Given the description of an element on the screen output the (x, y) to click on. 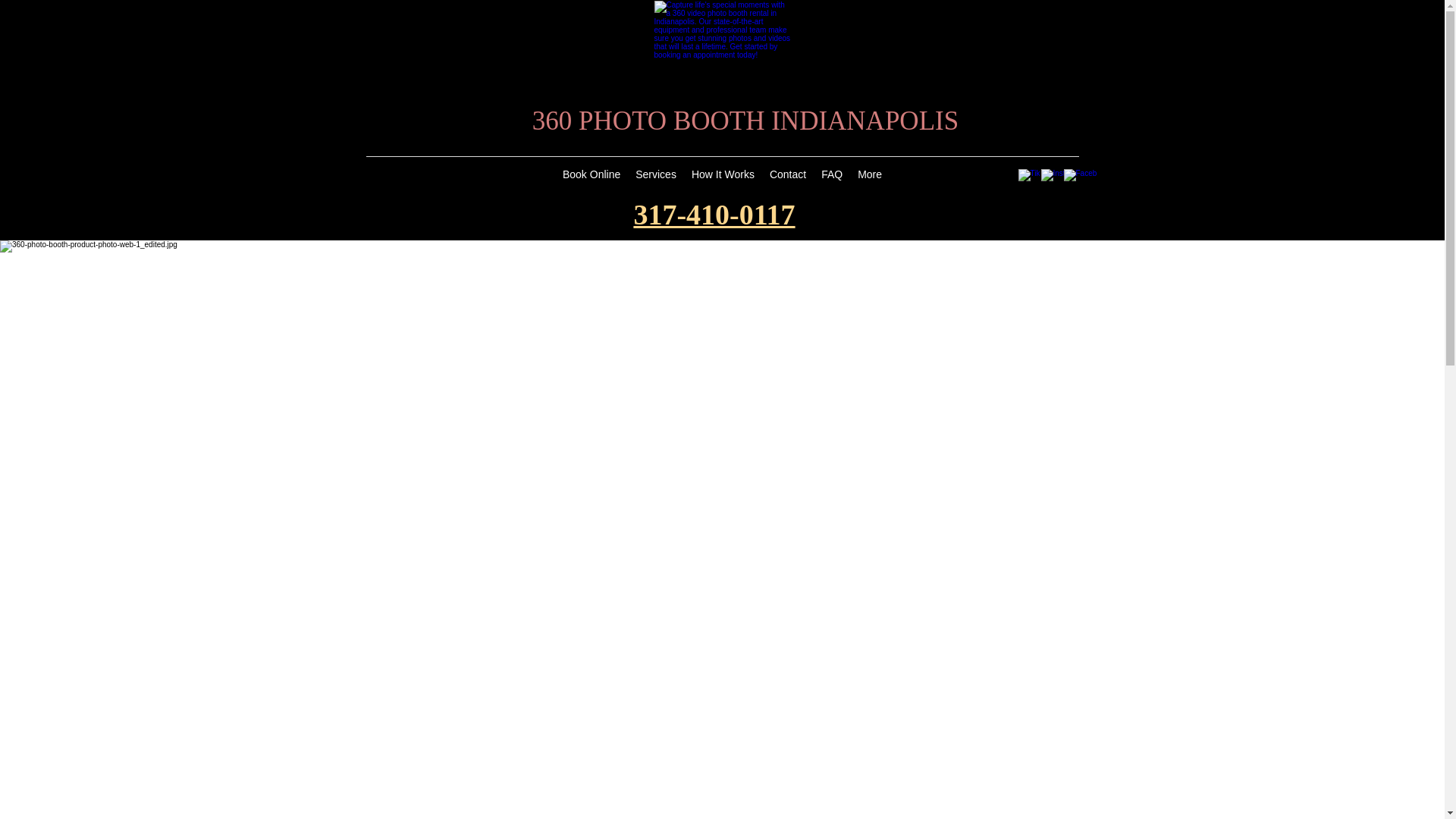
360 PHOTO BOOTH INDIANAPOLIS Element type: text (745, 120)
How It Works Element type: text (723, 176)
FAQ Element type: text (831, 176)
Services Element type: text (655, 176)
Book Online Element type: text (591, 176)
317-410-0117 Element type: text (713, 214)
Contact Element type: text (787, 176)
